Given the description of an element on the screen output the (x, y) to click on. 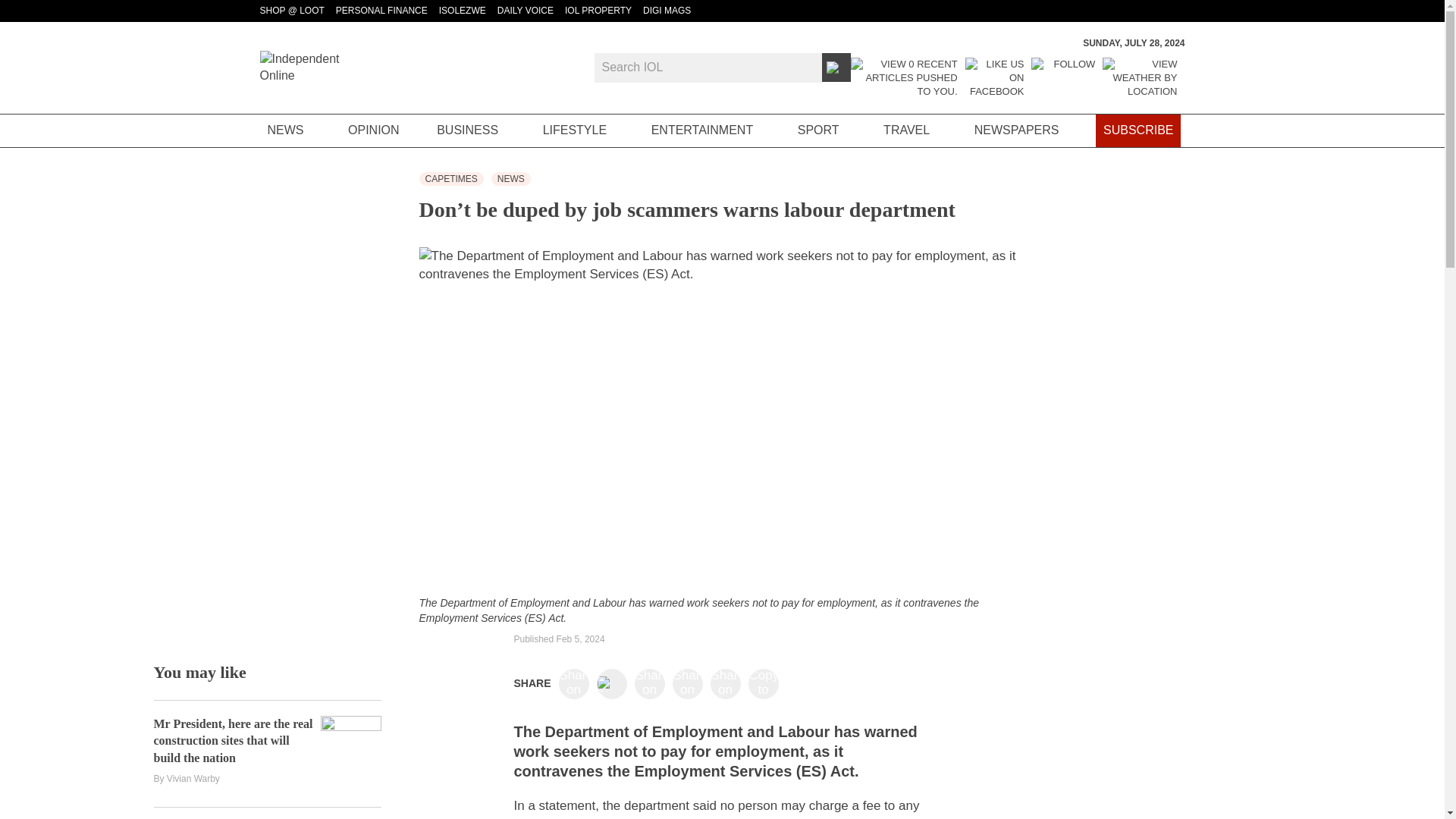
Share on WhatsApp (725, 684)
Copy to Clipboard (763, 684)
Follow us on Twitter (1062, 78)
Share on LinkedIn (648, 684)
Share on Telegram (686, 684)
Like us on Facebook (995, 78)
Share on Facebook (573, 684)
Share on Twitter (611, 683)
